Given the description of an element on the screen output the (x, y) to click on. 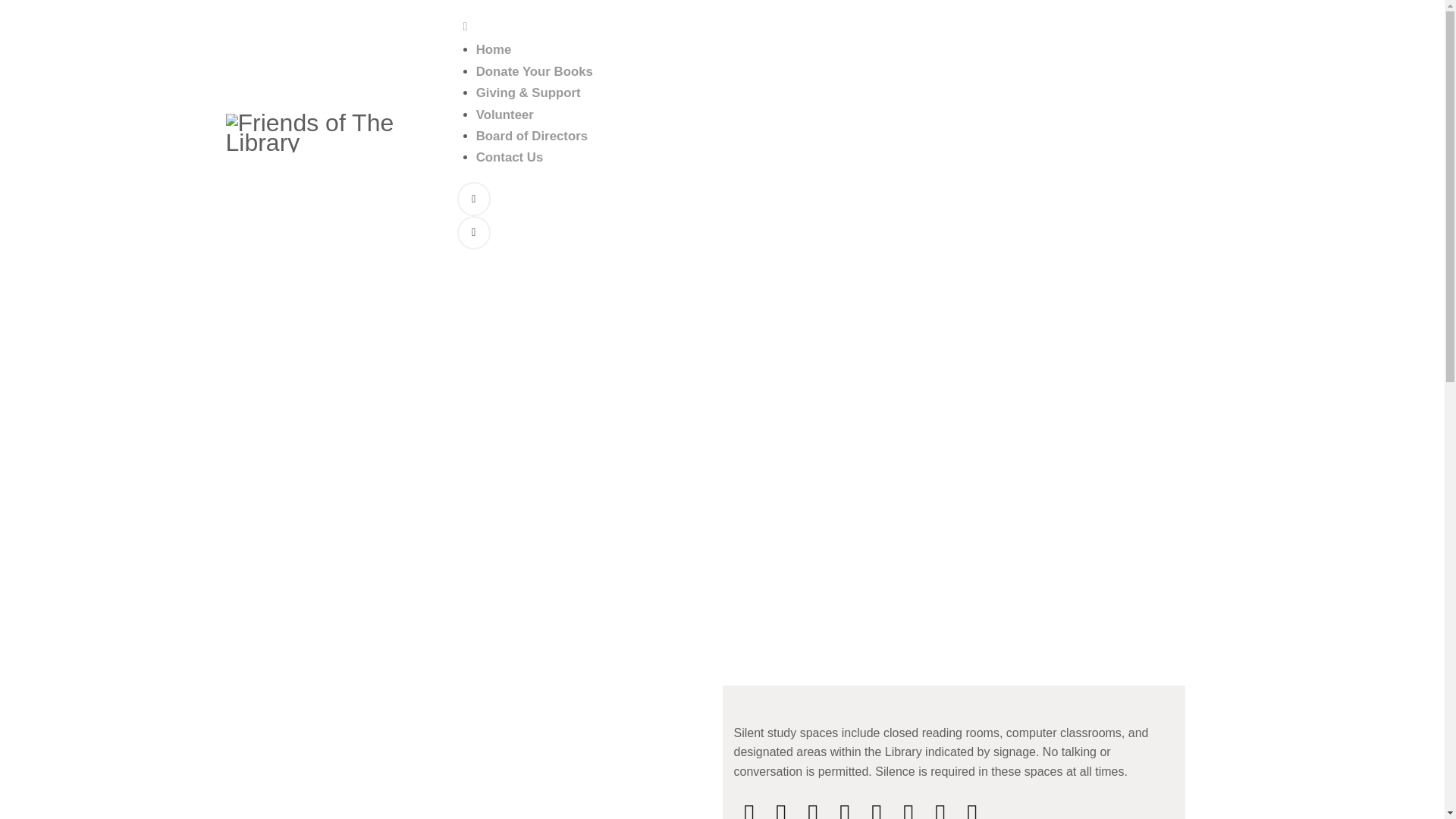
Board of Directors (532, 135)
Volunteer (505, 114)
Home (494, 49)
Contact Us (509, 156)
Donate Your Books (534, 71)
